Given the description of an element on the screen output the (x, y) to click on. 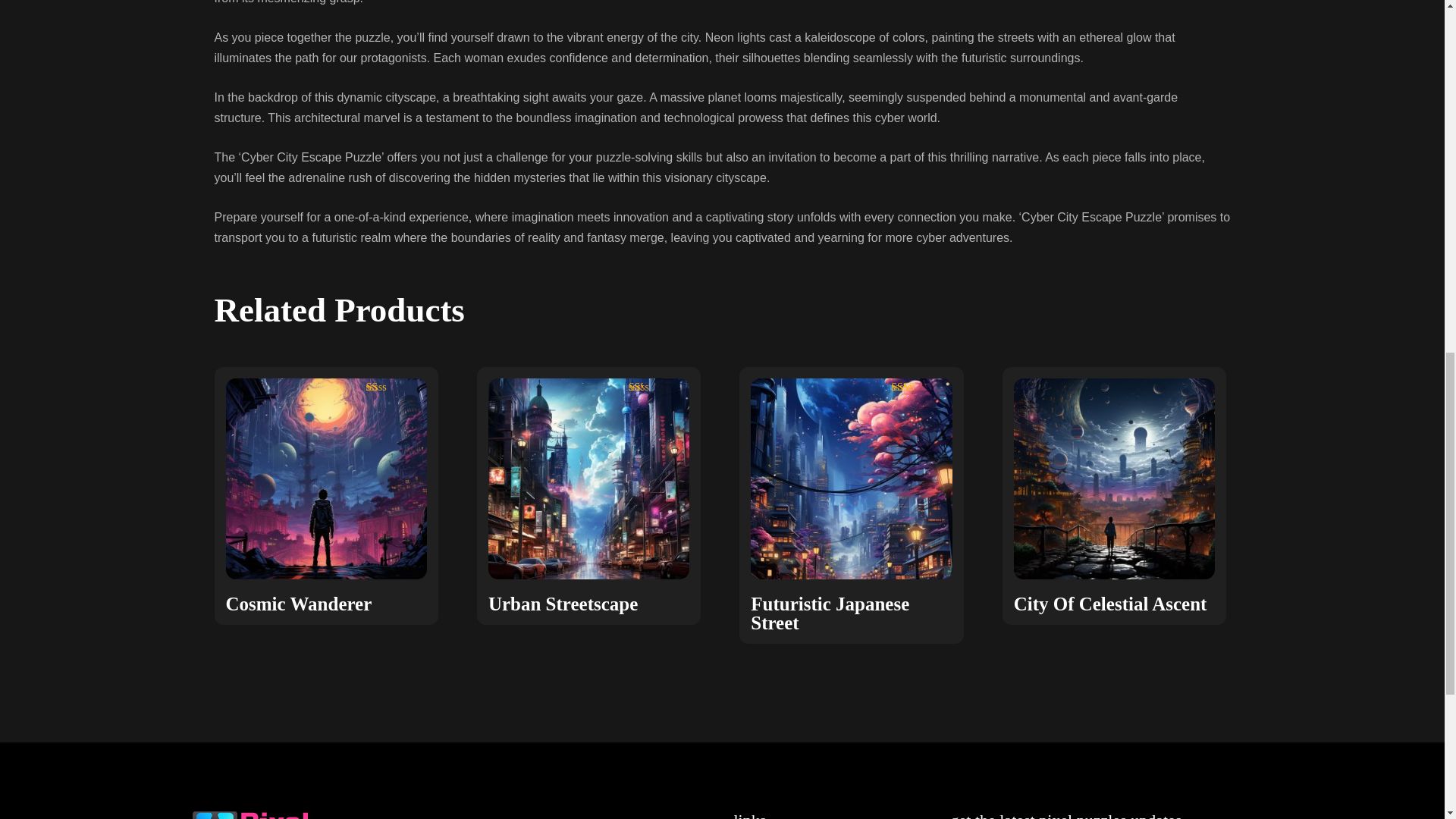
Urban Streetscape (587, 478)
Cosmic Wanderer (325, 478)
City of Celestial Ascent (1113, 478)
Futuristic Japanese Street (851, 478)
